Given the description of an element on the screen output the (x, y) to click on. 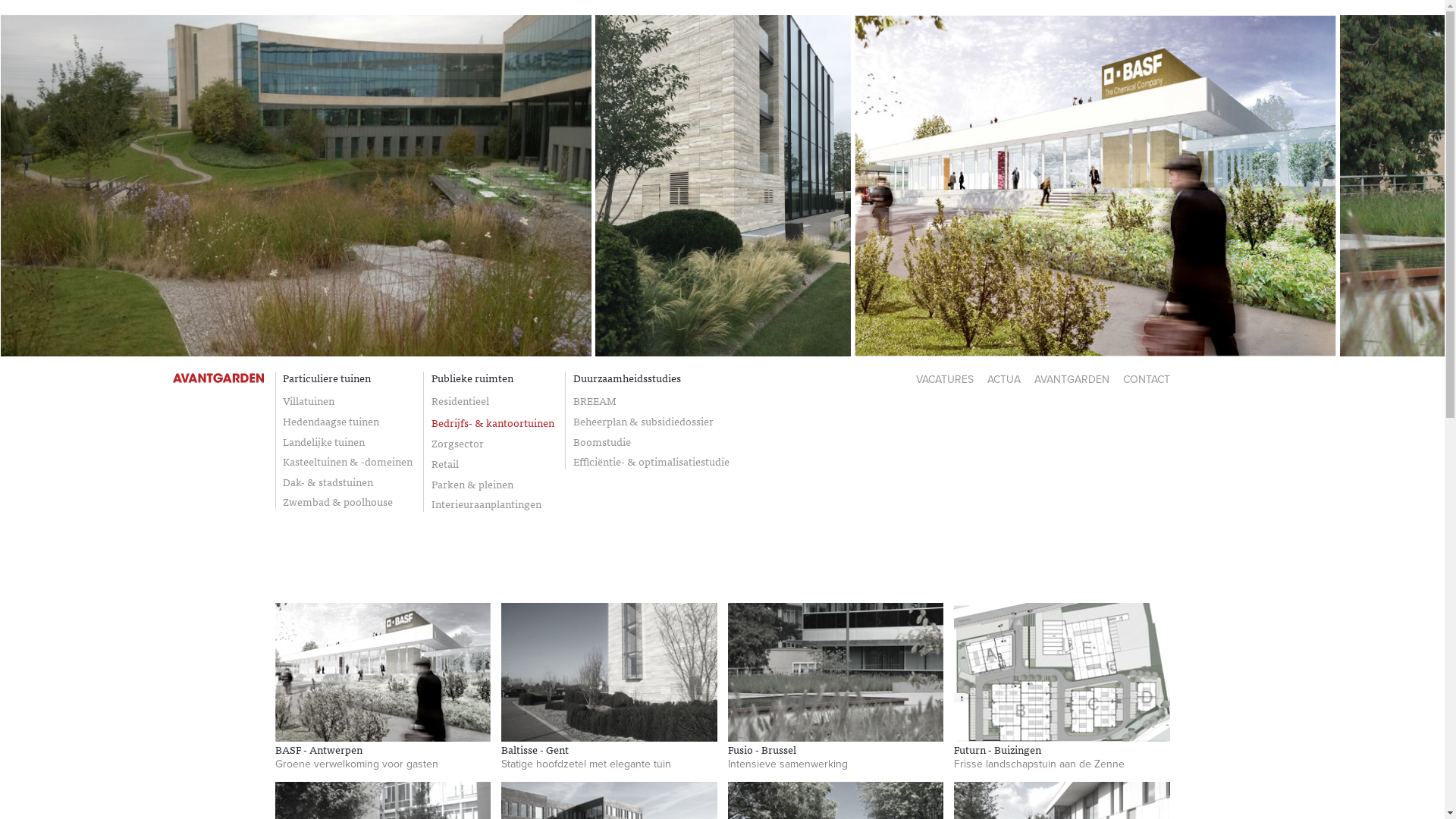
VACATURES Element type: text (944, 379)
Hedendaagse tuinen Element type: text (347, 421)
Parken & pleinen Element type: text (492, 484)
ACTUA Element type: text (1003, 379)
Beheerplan & subsidiedossier Element type: text (651, 421)
Baltisse - Gent
Statige hoofdzetel met elegante tuin Element type: text (609, 686)
Interieuraanplantingen Element type: text (492, 503)
Kasteeltuinen & -domeinen Element type: text (347, 461)
BREEAM Element type: text (651, 400)
Futurn - Buizingen
Frisse landschapstuin aan de Zenne Element type: text (1061, 686)
Villatuinen Element type: text (347, 400)
Retail Element type: text (492, 463)
CONTACT Element type: text (1145, 379)
Zwembad & poolhouse Element type: text (347, 501)
Residentieel Element type: text (492, 400)
BASF - Antwerpen
Groene verwelkoming voor gasten Element type: text (382, 686)
Landelijke tuinen Element type: text (347, 441)
Dak- & stadstuinen Element type: text (347, 481)
Zorgsector Element type: text (492, 443)
AVANTGARDEN Element type: text (1071, 379)
Boomstudie Element type: text (651, 441)
Fusio - Brussel
Intensieve samenwerking Element type: text (836, 686)
